Given the description of an element on the screen output the (x, y) to click on. 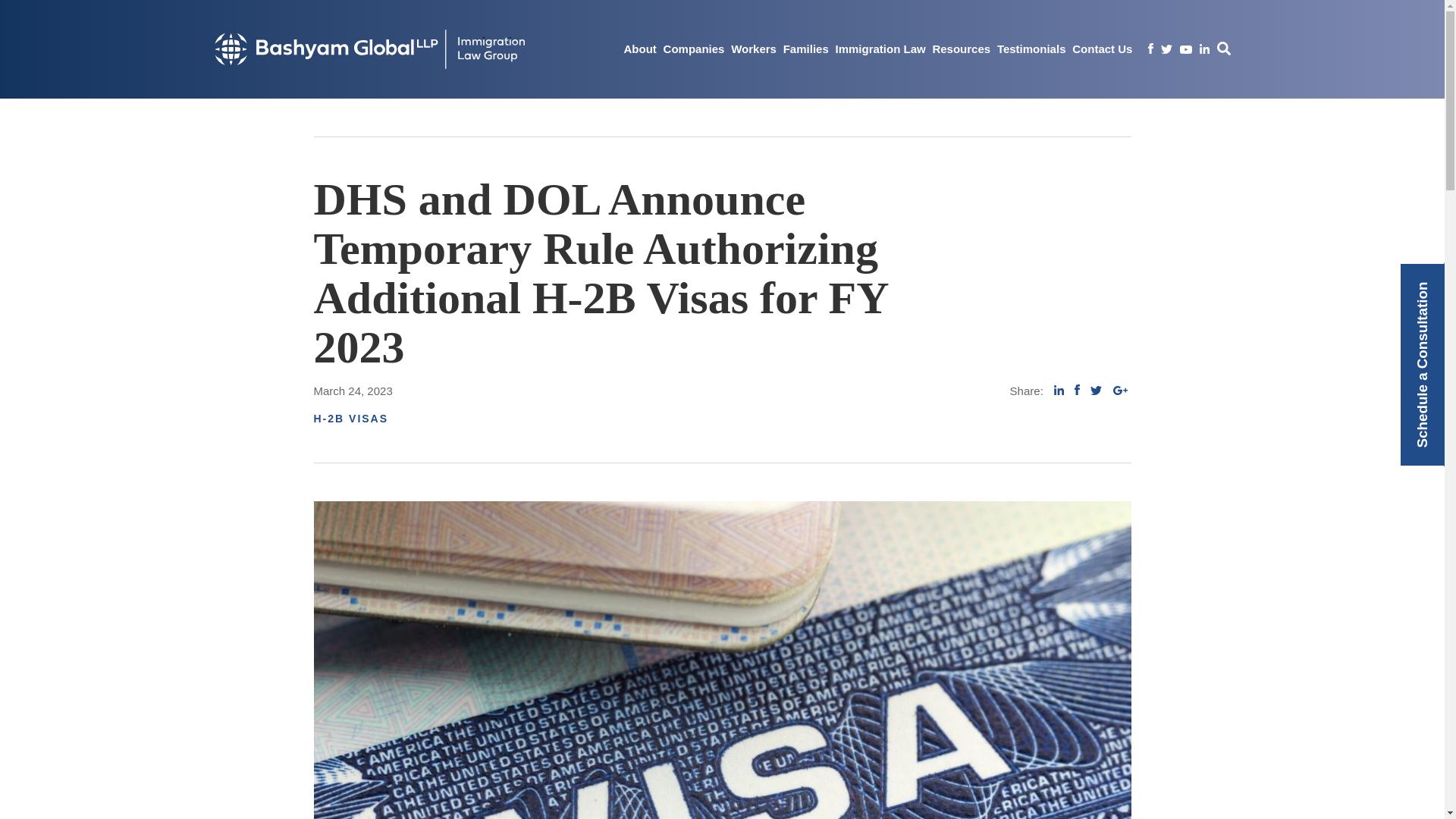
Companies (694, 48)
About (639, 48)
Families (805, 48)
Workers (753, 48)
